Given the description of an element on the screen output the (x, y) to click on. 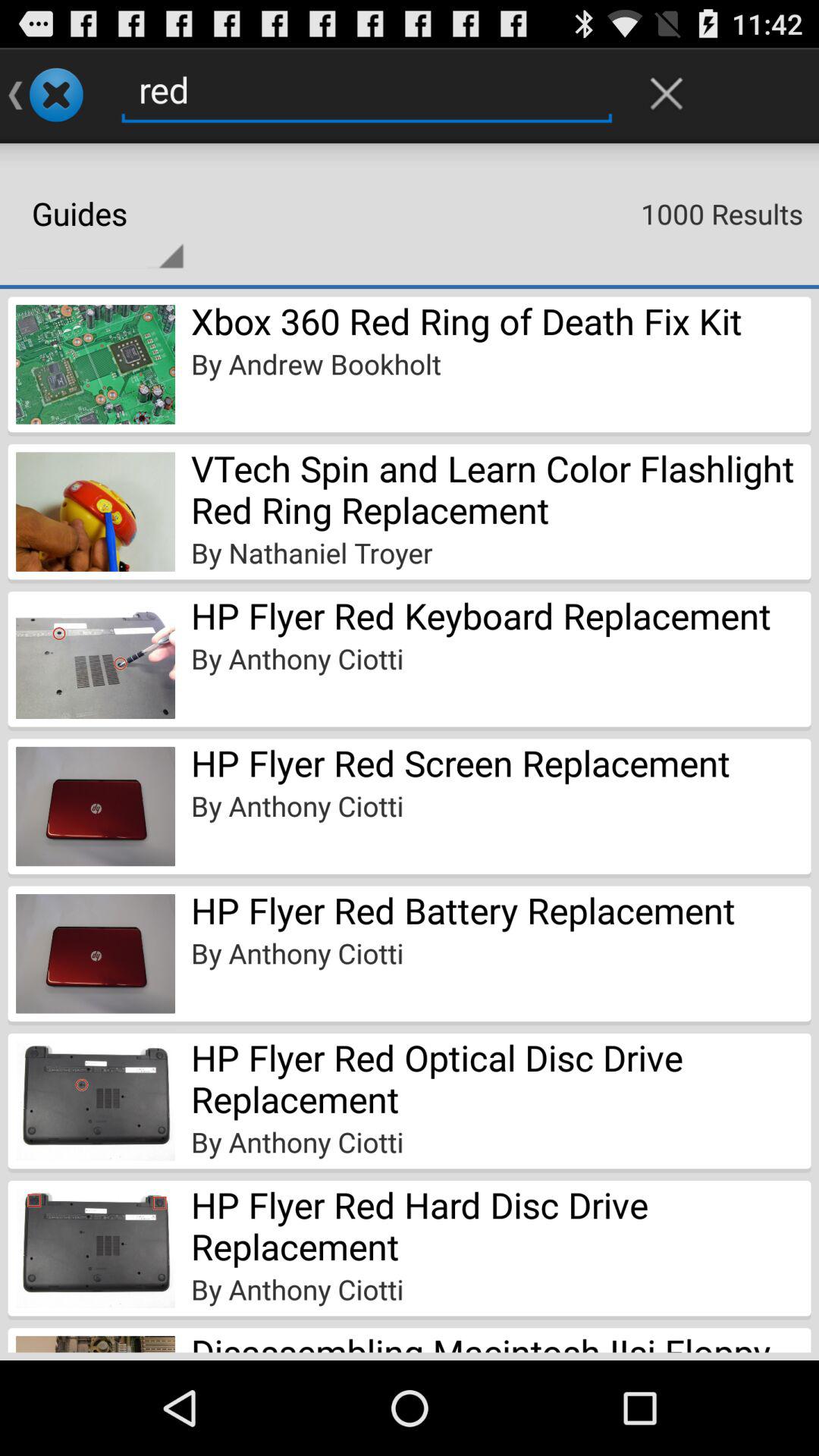
click the by nathaniel troyer app (311, 552)
